Given the description of an element on the screen output the (x, y) to click on. 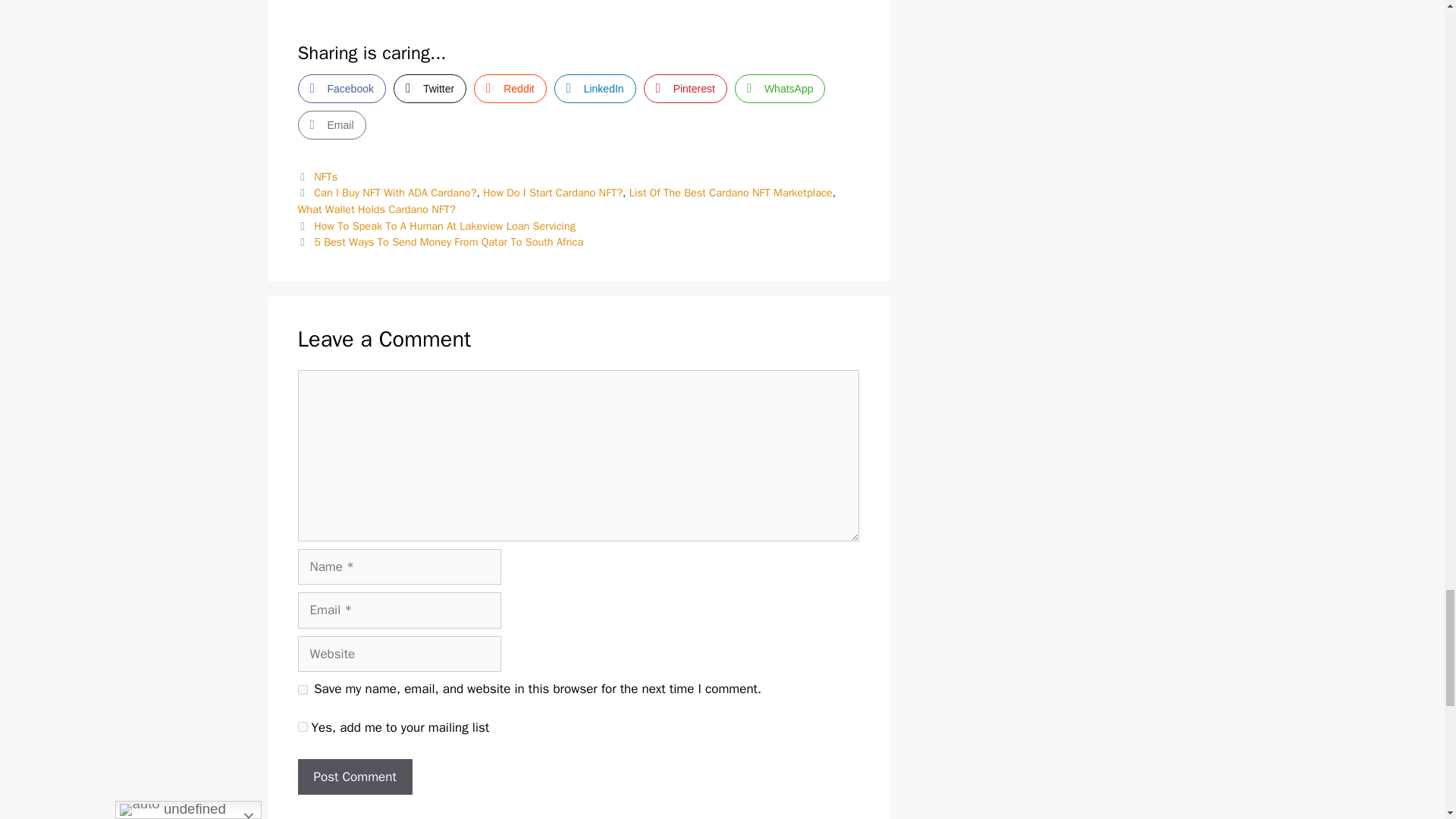
yes (302, 689)
1 (302, 726)
Post Comment (354, 777)
